Given the description of an element on the screen output the (x, y) to click on. 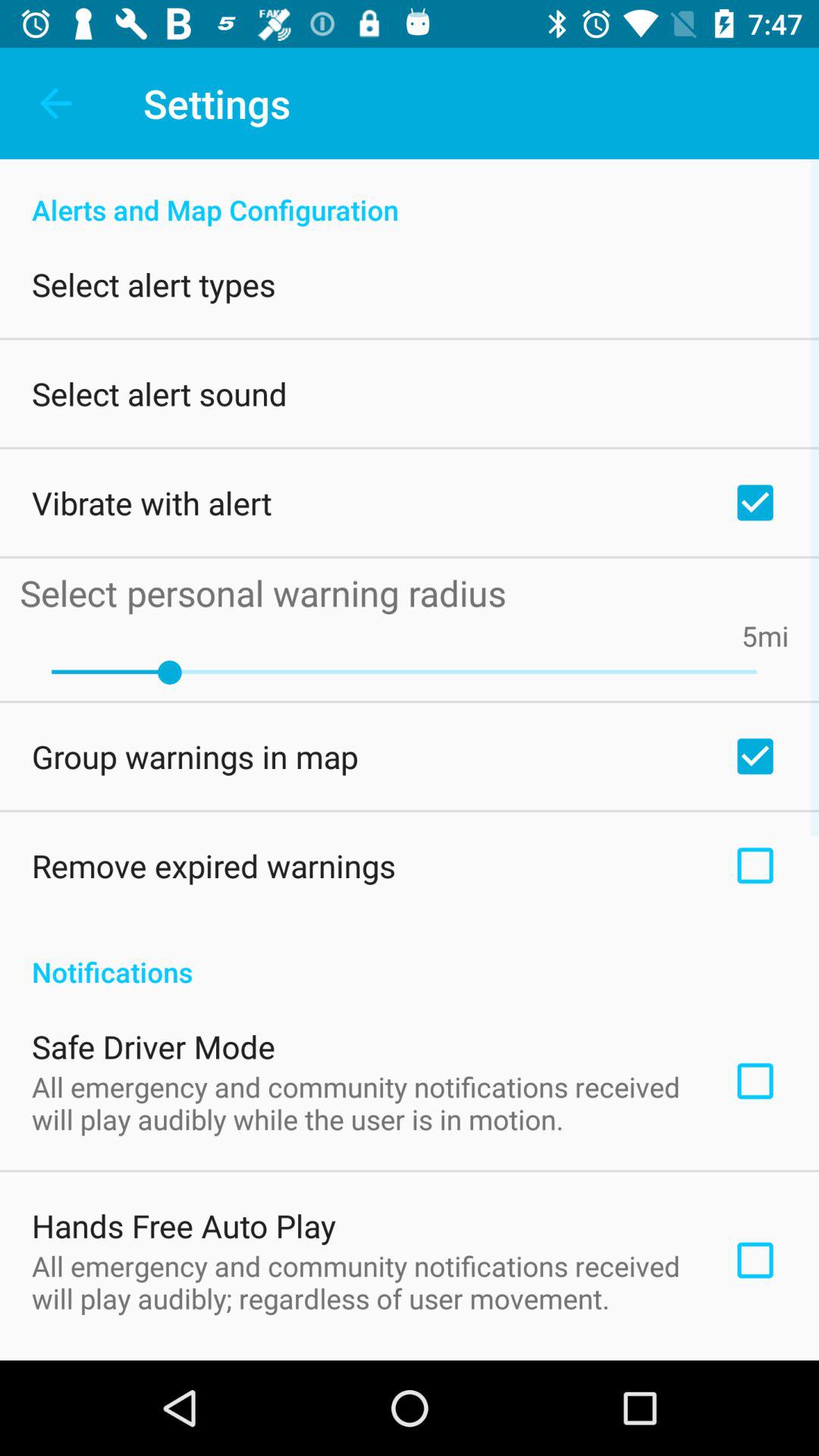
open alerts and map (409, 193)
